Given the description of an element on the screen output the (x, y) to click on. 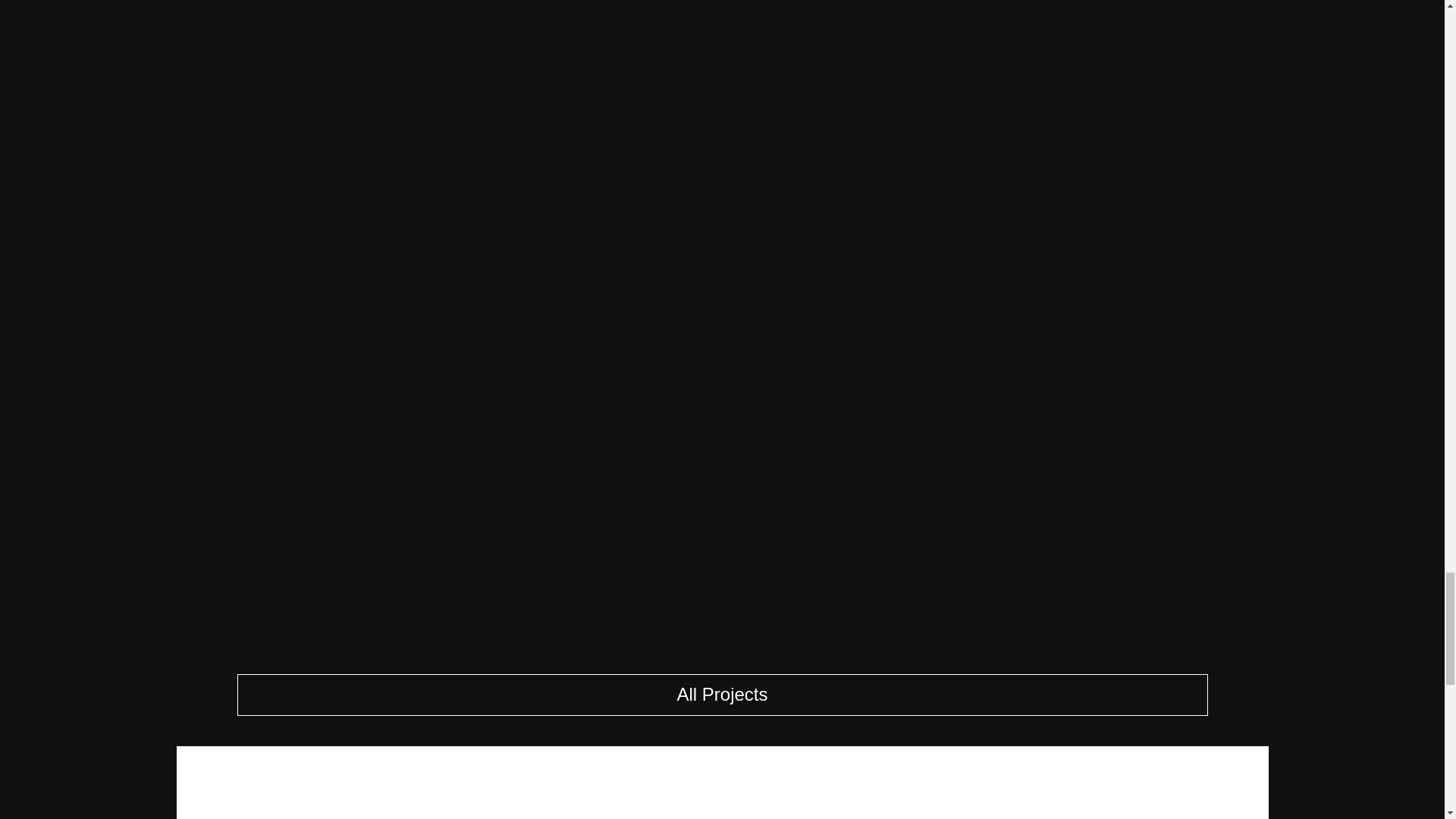
All Projects (721, 694)
